Given the description of an element on the screen output the (x, y) to click on. 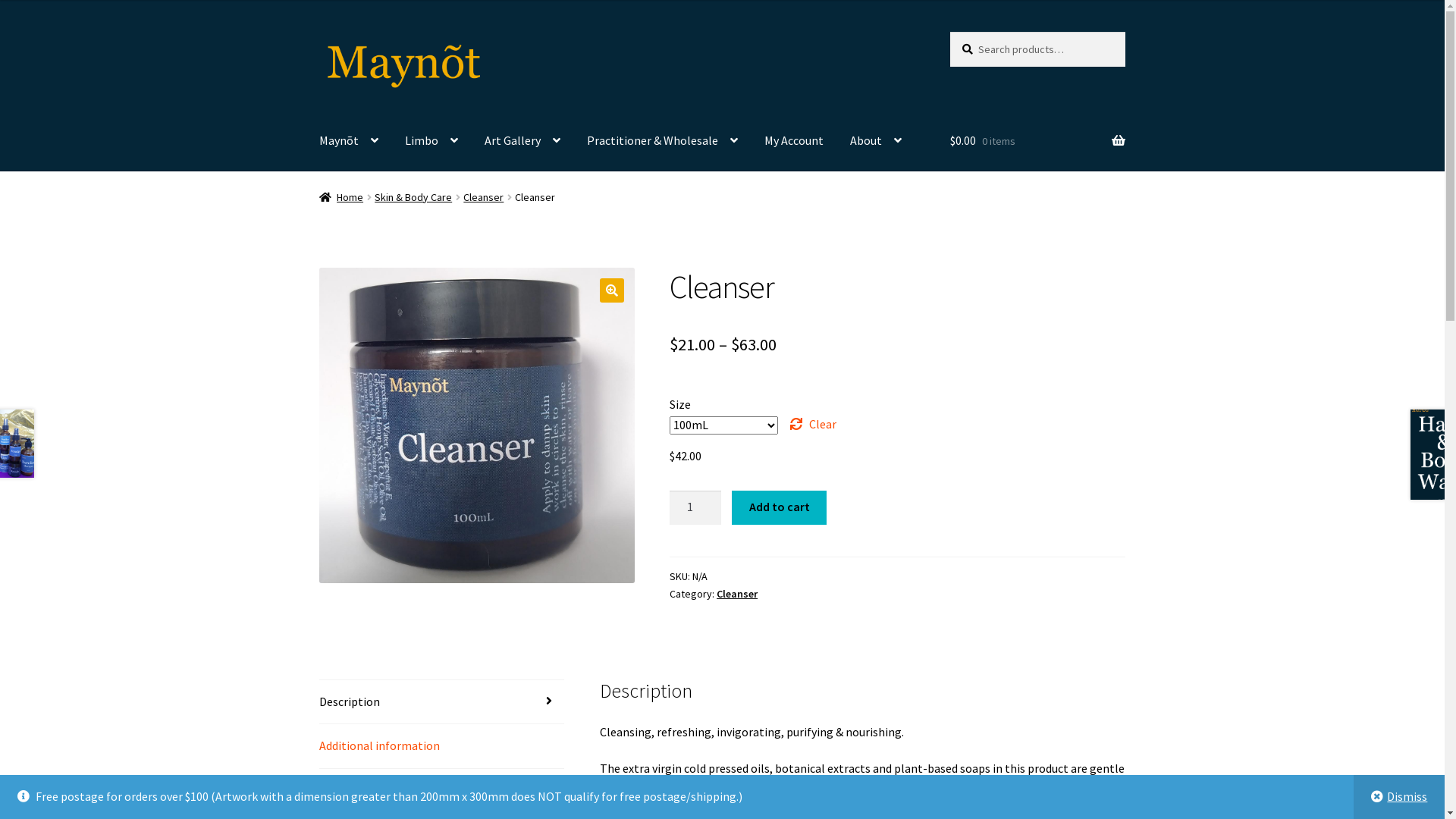
Search Element type: text (949, 31)
Skip to navigation Element type: text (318, 31)
Practitioner & Wholesale Element type: text (661, 140)
cleanser Element type: hover (476, 425)
About Element type: text (875, 140)
Limbo Element type: text (431, 140)
Additional information Element type: text (441, 746)
Add to cart Element type: text (778, 507)
Skin & Body Care Element type: text (412, 196)
Home Element type: text (341, 196)
Cleanser Element type: text (483, 196)
My Account Element type: text (793, 140)
$0.00 0 items Element type: text (1037, 140)
Clear Element type: text (813, 424)
Cleanser Element type: text (736, 593)
Description Element type: text (441, 702)
Art Gallery Element type: text (522, 140)
